Given the description of an element on the screen output the (x, y) to click on. 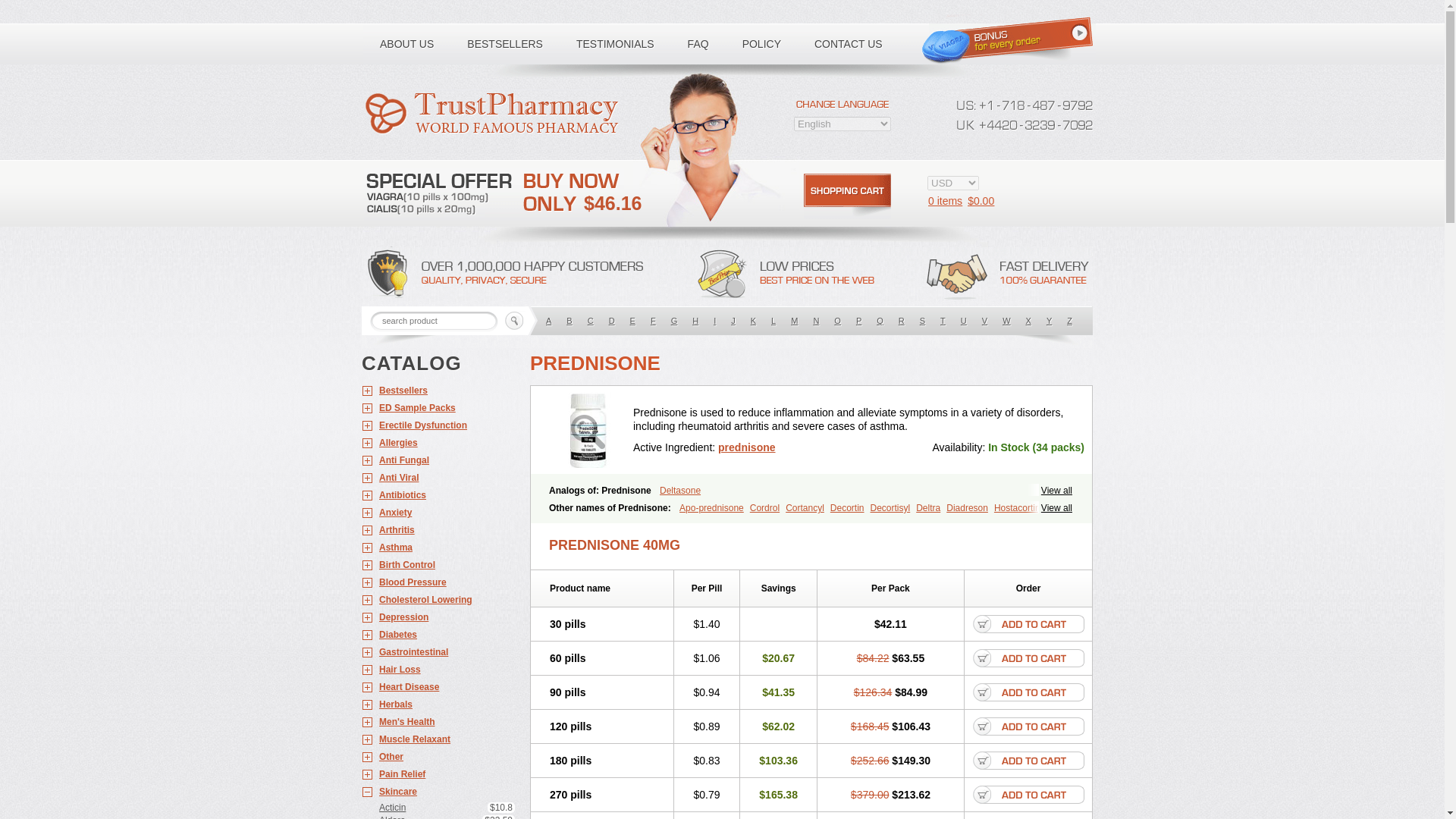
O (837, 320)
Z (1069, 320)
R (901, 320)
M (794, 320)
L (772, 320)
P (858, 320)
FAQ (698, 43)
E (633, 320)
Y (1049, 320)
U (963, 320)
N (816, 320)
J (732, 320)
CONTACT US (848, 43)
H (695, 320)
V (984, 320)
